Given the description of an element on the screen output the (x, y) to click on. 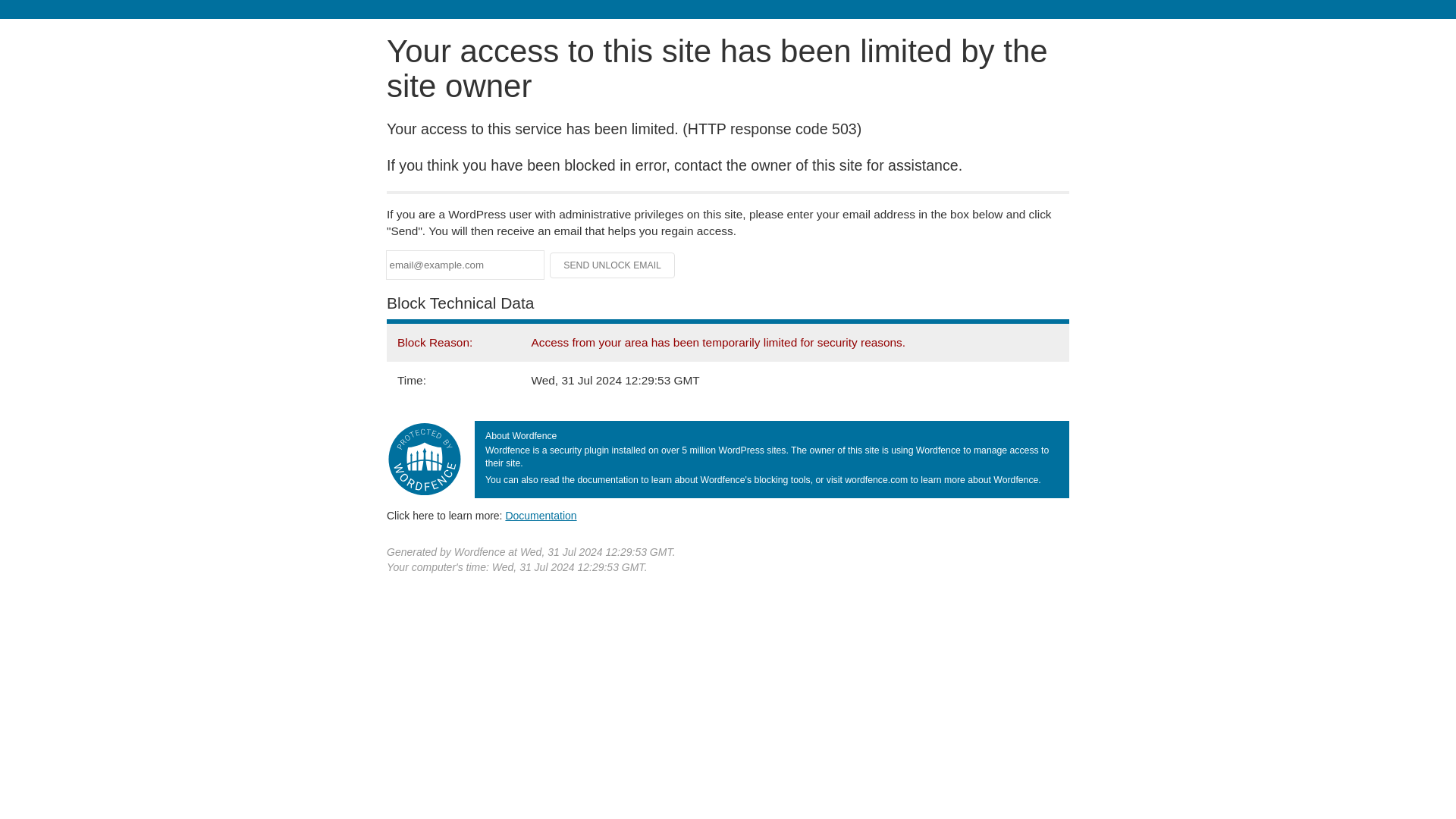
Send Unlock Email (612, 265)
Documentation (540, 515)
Send Unlock Email (612, 265)
